Given the description of an element on the screen output the (x, y) to click on. 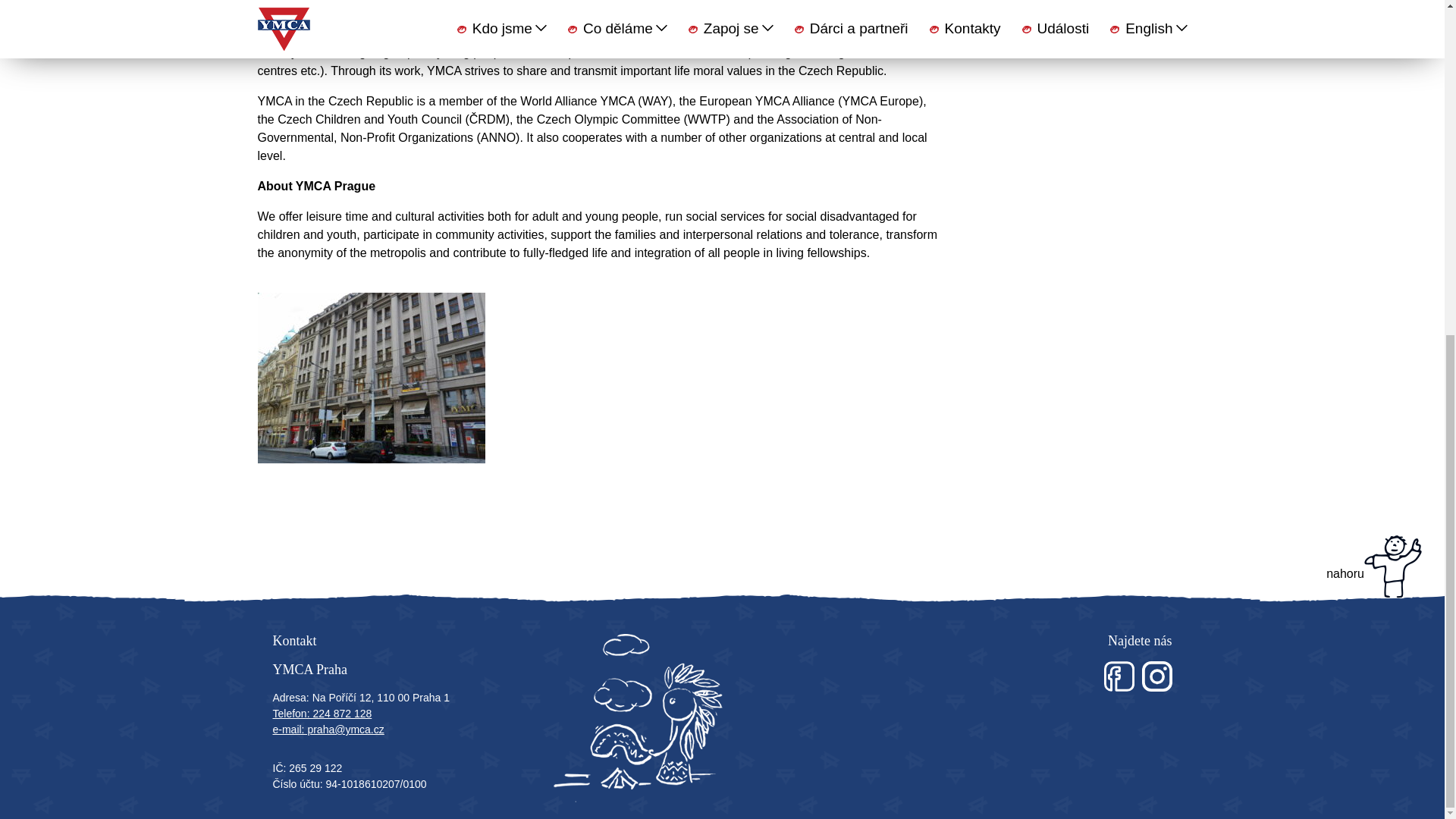
About-YMCA-Prague (597, 377)
Telefon: 224 872 128 (322, 713)
